Given the description of an element on the screen output the (x, y) to click on. 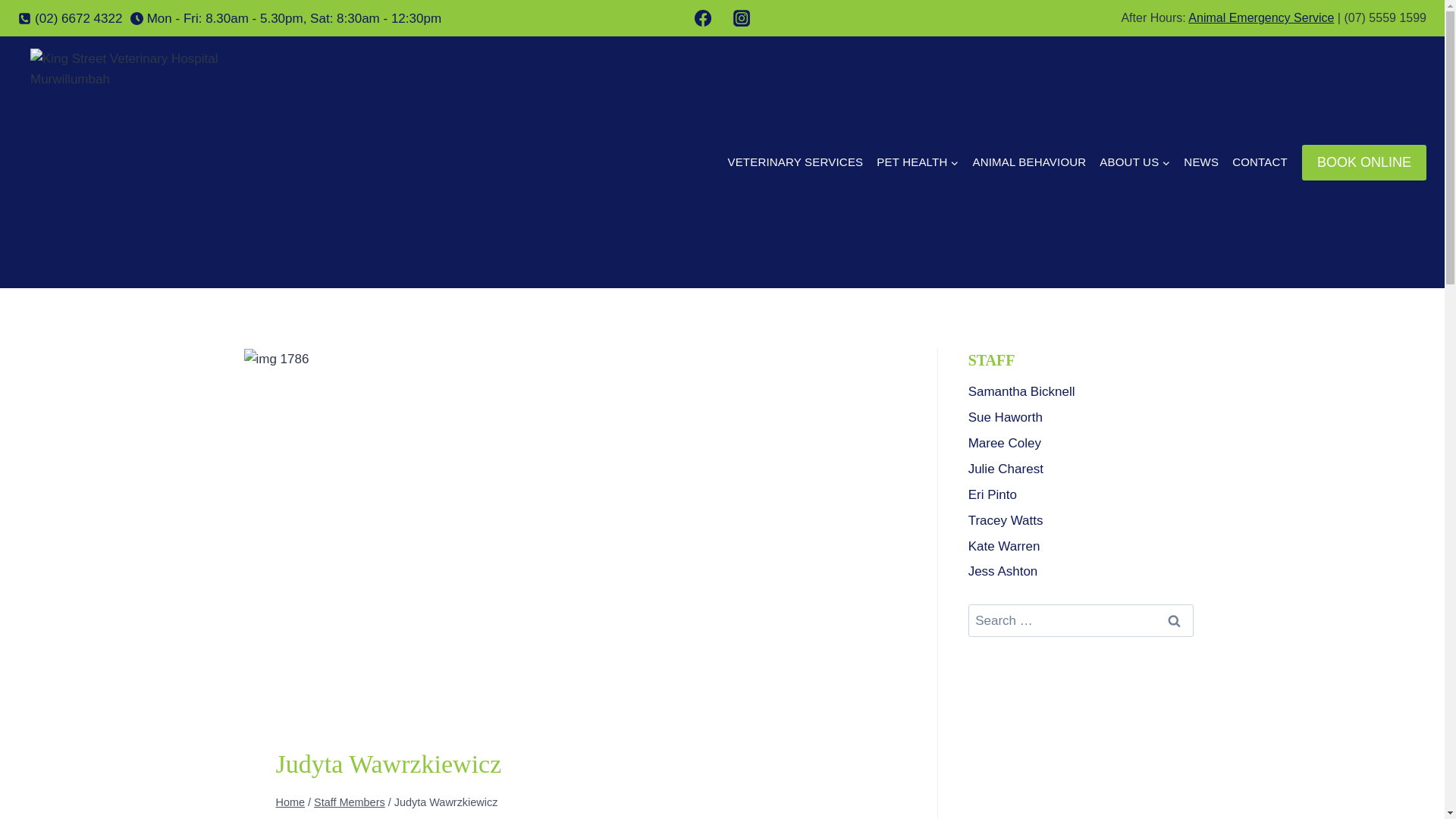
Search (1174, 620)
Samantha Bicknell (1080, 391)
BOOK ONLINE (1363, 162)
Maree Coley (1080, 443)
Eri Pinto (1080, 494)
Sue Haworth (1080, 417)
ABOUT US (1134, 162)
PET HEALTH (917, 162)
Jess Ashton (1080, 572)
CONTACT (1259, 162)
Staff Members (349, 802)
Search (1174, 620)
Animal Emergency Service (1260, 17)
Julie Charest (1080, 469)
ANIMAL BEHAVIOUR (1029, 162)
